Given the description of an element on the screen output the (x, y) to click on. 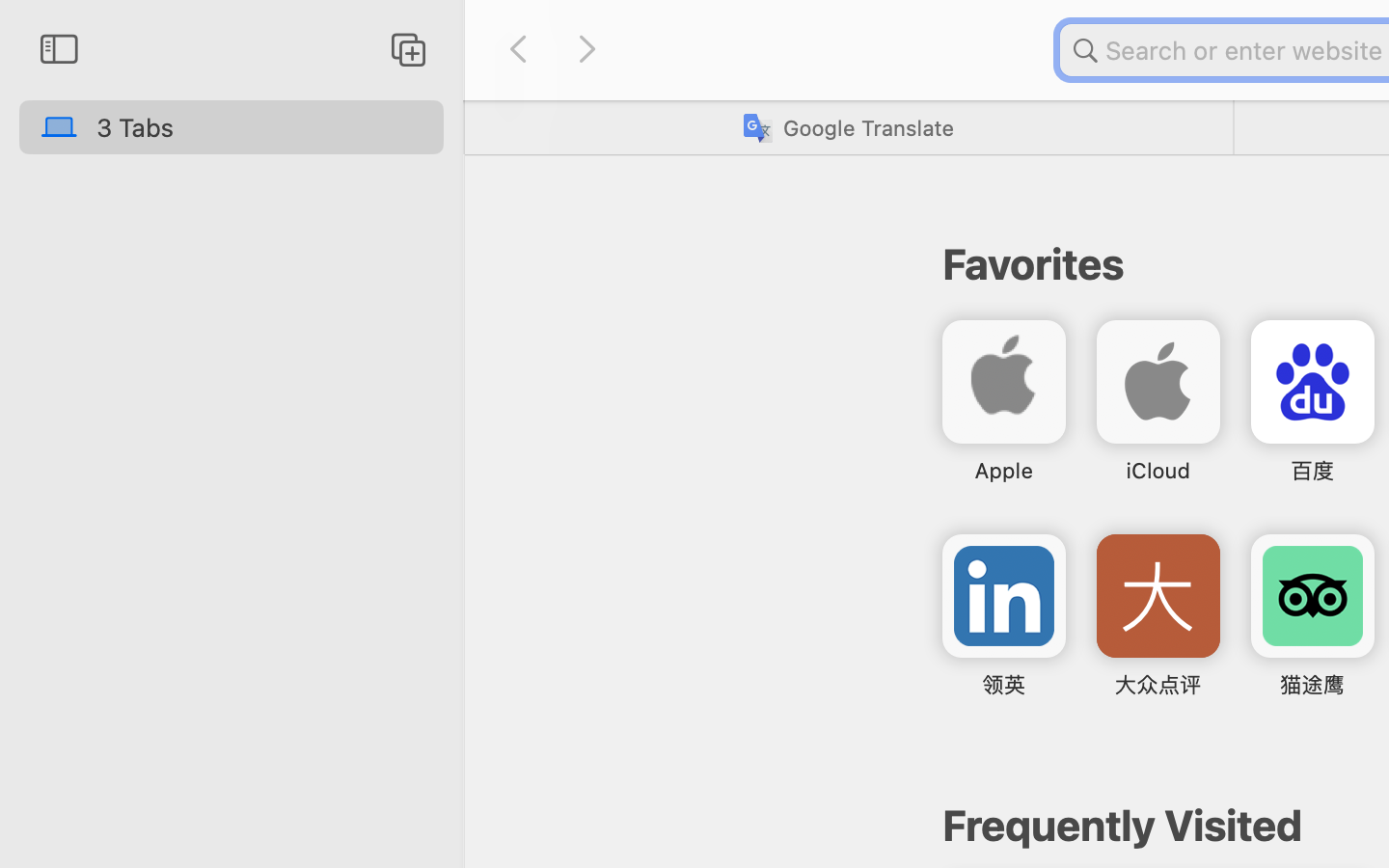
百度 Element type: AXButton (1311, 470)
False Element type: AXRadioButton (847, 127)
大众点评 Element type: AXButton (1157, 684)
猫途鹰 Element type: AXButton (1311, 684)
